Given the description of an element on the screen output the (x, y) to click on. 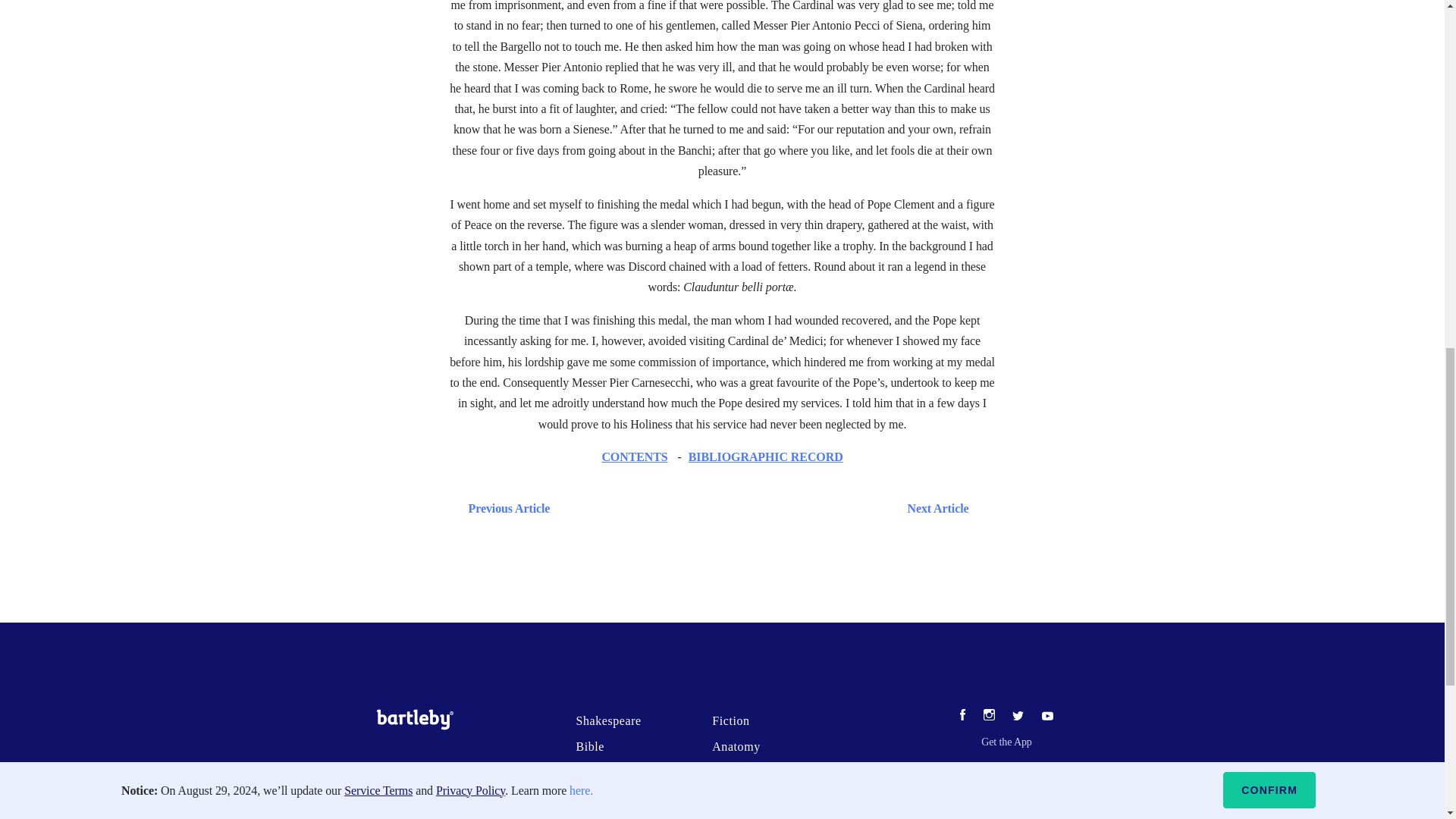
Poetry (728, 818)
Fiction (730, 720)
Bible (589, 746)
Anatomy (735, 746)
BIBLIOGRAPHIC RECORD (765, 456)
Quotations (604, 818)
Harvard Classics (756, 771)
Nonfiction (603, 797)
Lit. History (742, 797)
Shakespeare (607, 720)
